Given the description of an element on the screen output the (x, y) to click on. 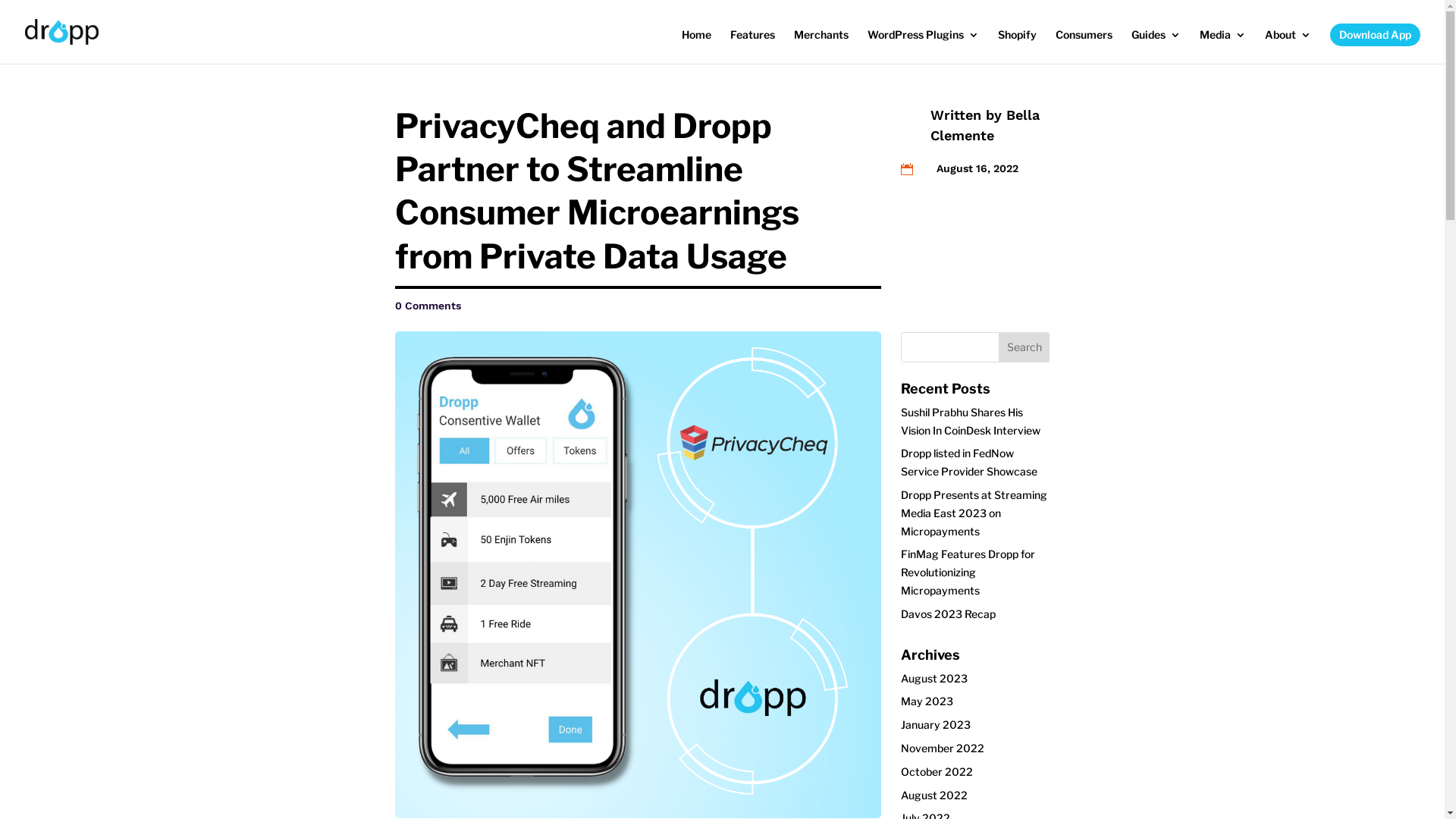
Dropp-privacycheq partnership Element type: hover (637, 574)
Guides Element type: text (1155, 46)
November 2022 Element type: text (942, 747)
WordPress Plugins Element type: text (923, 46)
Merchants Element type: text (820, 46)
Bella Clemente Element type: text (984, 124)
Home Element type: text (696, 46)
August 2023 Element type: text (933, 677)
Dropp Presents at Streaming Media East 2023 on Micropayments Element type: text (973, 512)
Features Element type: text (752, 46)
August 2022 Element type: text (933, 794)
About Element type: text (1287, 46)
Media Element type: text (1222, 46)
Shopify Element type: text (1016, 46)
Consumers Element type: text (1083, 46)
FinMag Features Dropp for Revolutionizing Micropayments Element type: text (967, 571)
Davos 2023 Recap Element type: text (947, 613)
Sushil Prabhu Shares His Vision In CoinDesk Interview Element type: text (970, 420)
May 2023 Element type: text (926, 700)
Download App Element type: text (1375, 34)
January 2023 Element type: text (935, 724)
0 Comments Element type: text (427, 305)
October 2022 Element type: text (936, 771)
Search Element type: text (1024, 347)
Dropp listed in FedNow Service Provider Showcase Element type: text (968, 461)
